Given the description of an element on the screen output the (x, y) to click on. 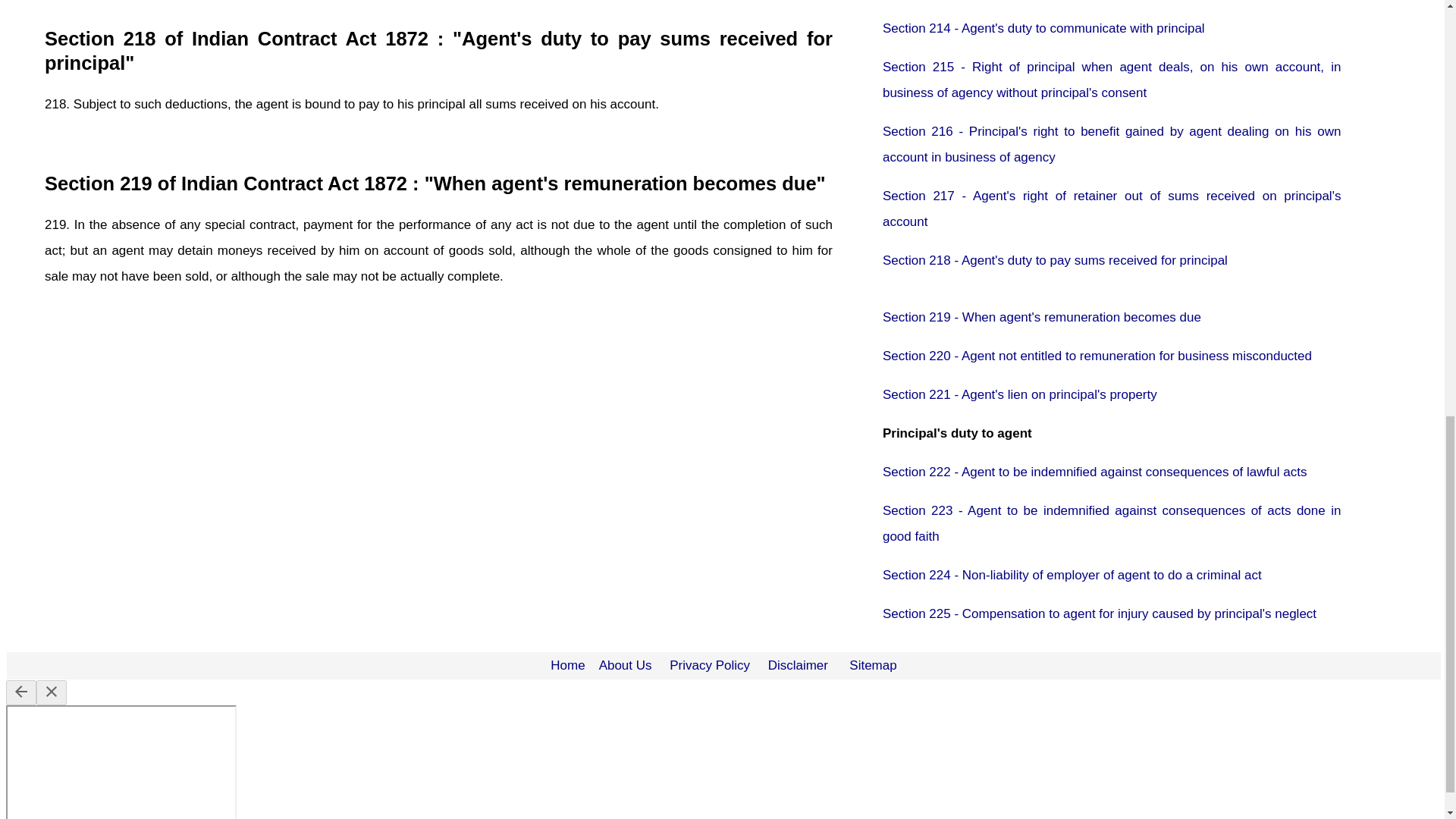
Section 221 - Agent's lien on principal's property (1019, 394)
Disclaimer (798, 665)
Sitemap (872, 665)
Section 214 - Agent's duty to communicate with principal (1043, 28)
Section 219 - When agent's remuneration becomes due (1041, 317)
